Given the description of an element on the screen output the (x, y) to click on. 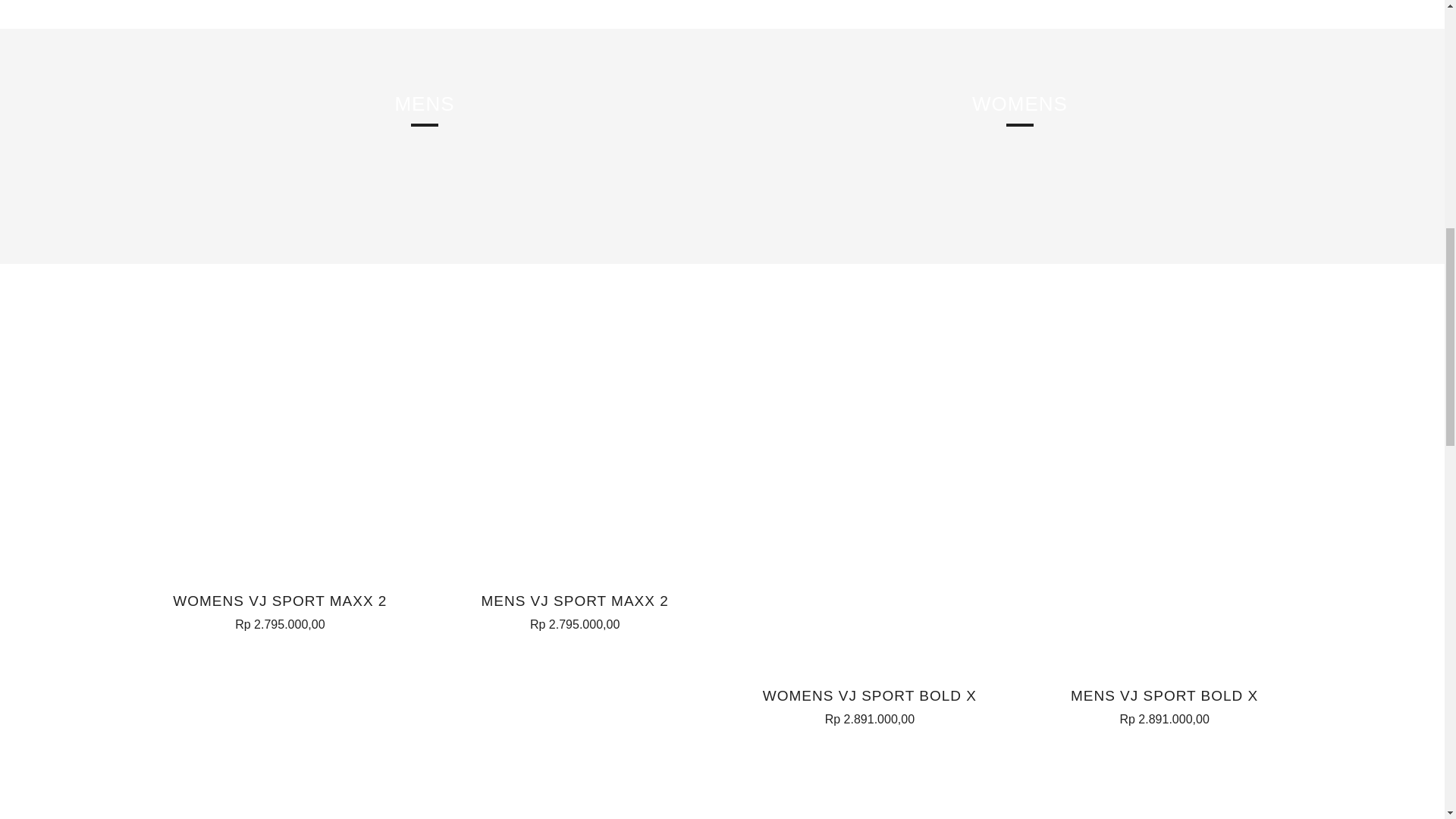
WOMENS VJ SPORT MAXX 2 (280, 609)
WOMENS VJ SPORT BOLD X (869, 704)
MENS VJ SPORT BOLD X (1164, 704)
MENS VJ SPORT MAXX 2 (574, 609)
